Given the description of an element on the screen output the (x, y) to click on. 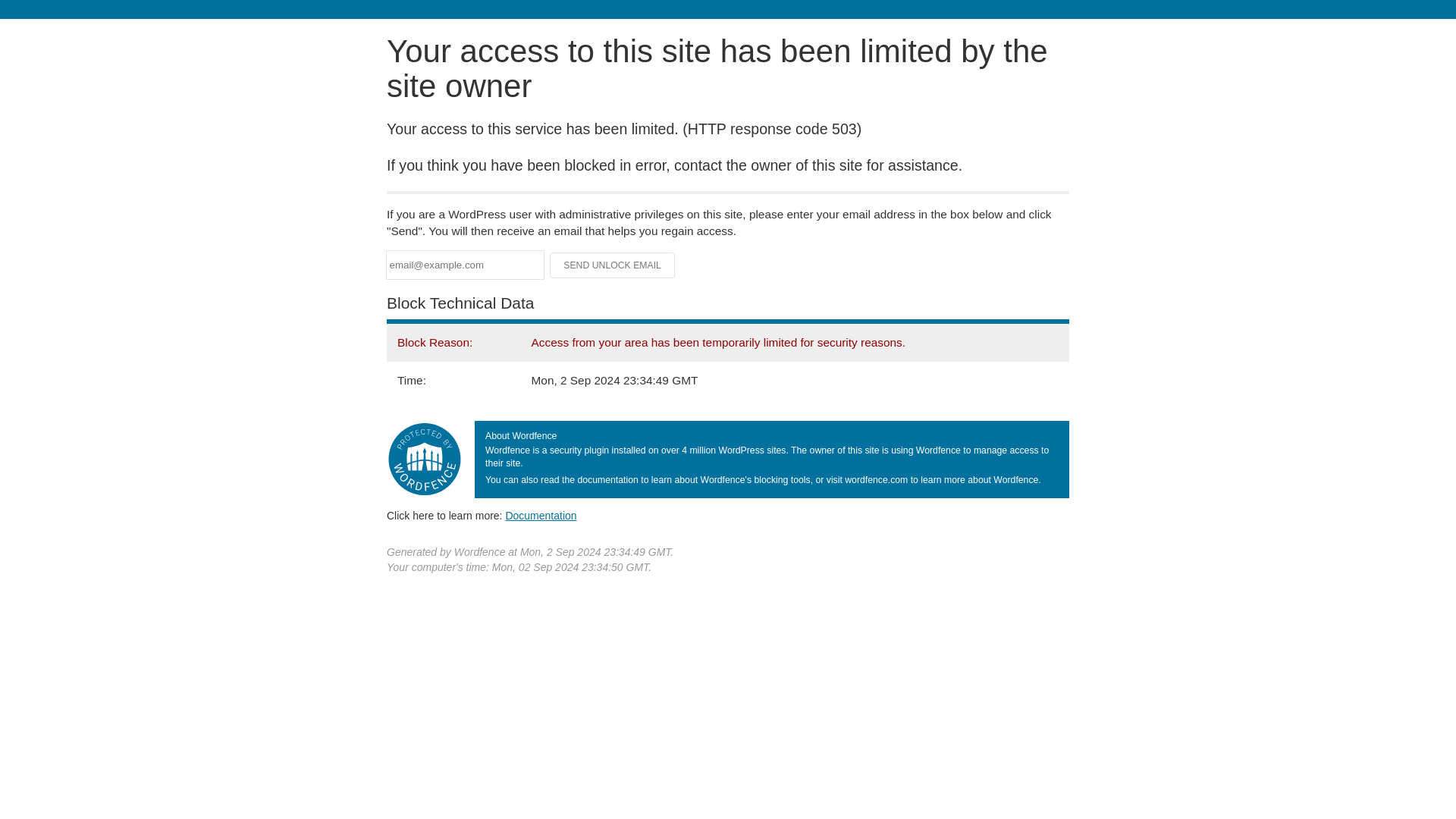
Documentation (540, 515)
Send Unlock Email (612, 265)
Send Unlock Email (612, 265)
